Given the description of an element on the screen output the (x, y) to click on. 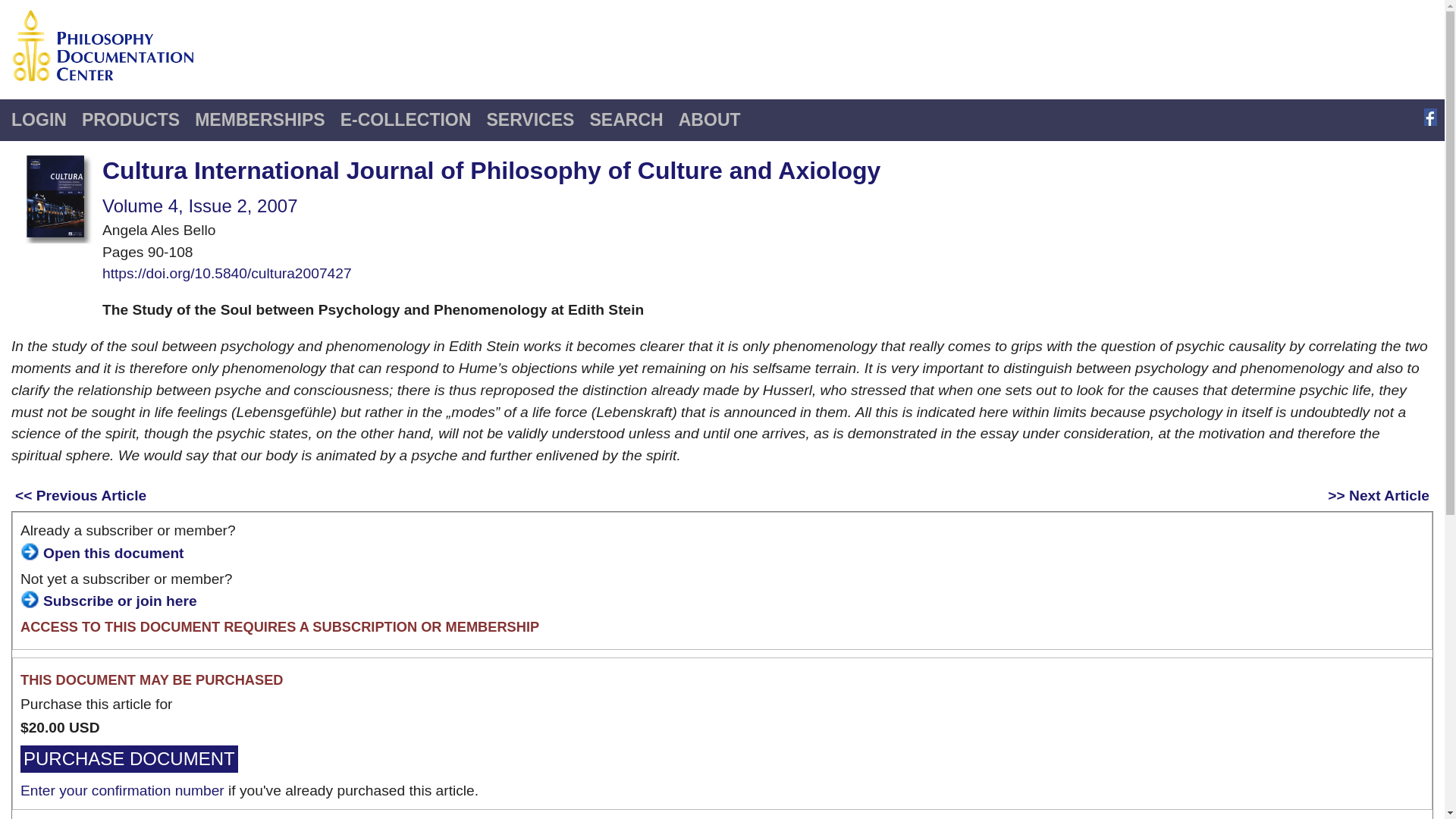
PURCHASE DOCUMENT (129, 758)
PRODUCTS (130, 119)
MEMBERSHIPS (259, 119)
SERVICES (529, 119)
ABOUT (709, 119)
SEARCH (624, 119)
E-COLLECTION (406, 119)
LOGIN (39, 119)
